Given the description of an element on the screen output the (x, y) to click on. 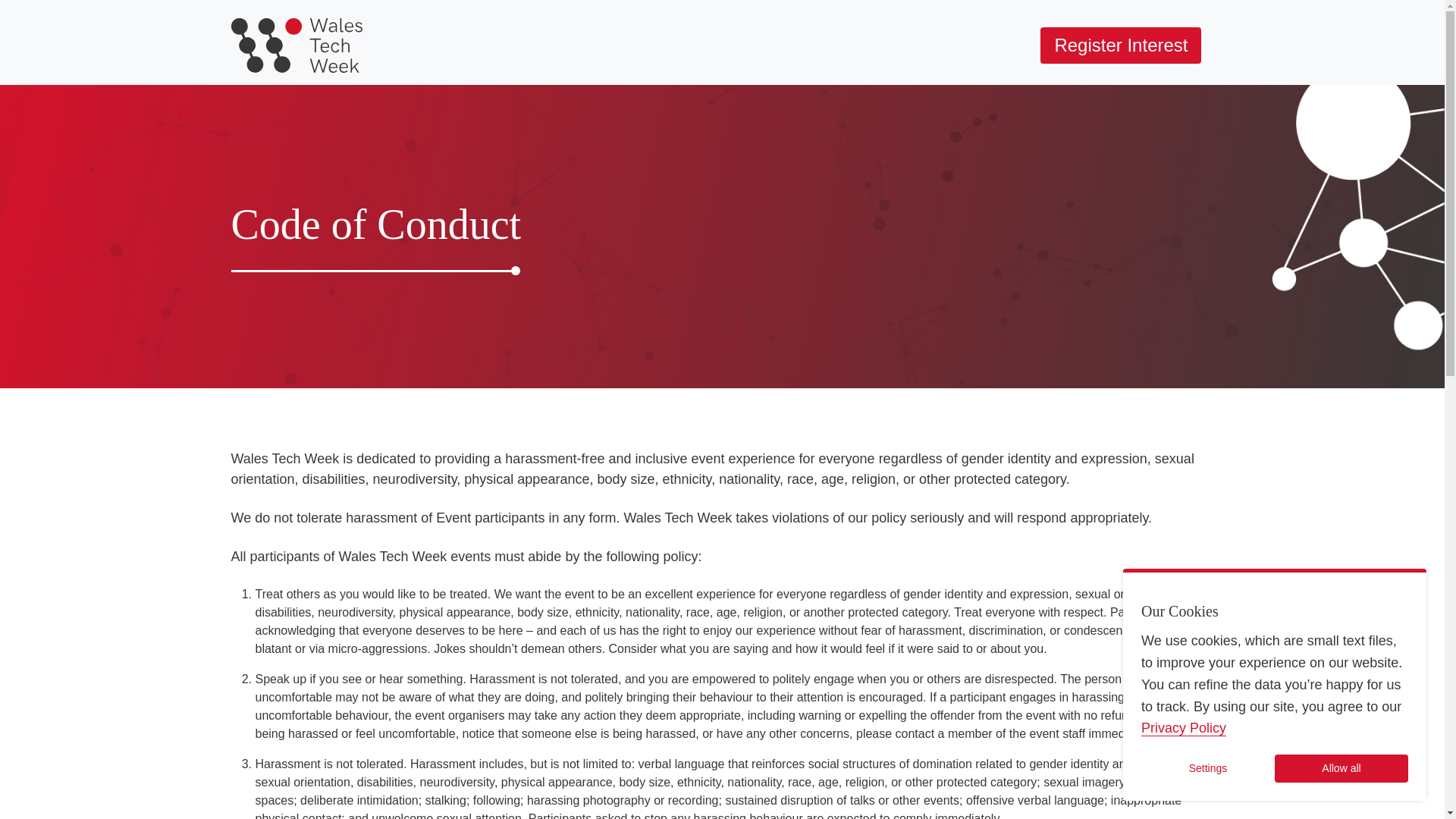
Register Interest (1121, 45)
Settings (1208, 768)
Privacy Policy (1183, 728)
Allow all (1341, 768)
